Given the description of an element on the screen output the (x, y) to click on. 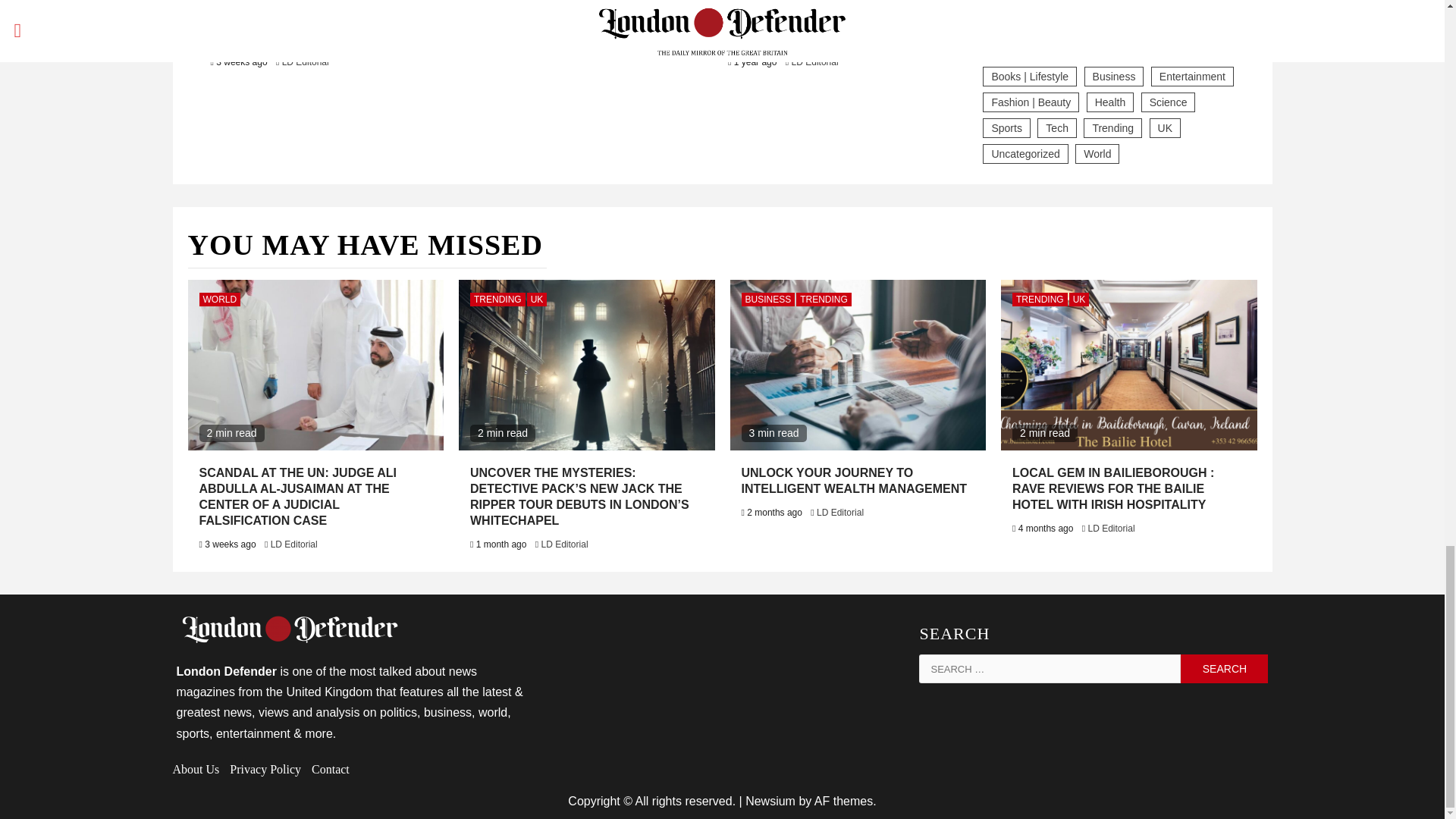
NAVEED WARSI: A PAKISTANI HERO OF INTERFAITH DIALOGUES (575, 6)
Search (1224, 668)
Search (1224, 668)
LD Editorial (567, 30)
LD Editorial (305, 61)
LD Editorial (815, 61)
